Given the description of an element on the screen output the (x, y) to click on. 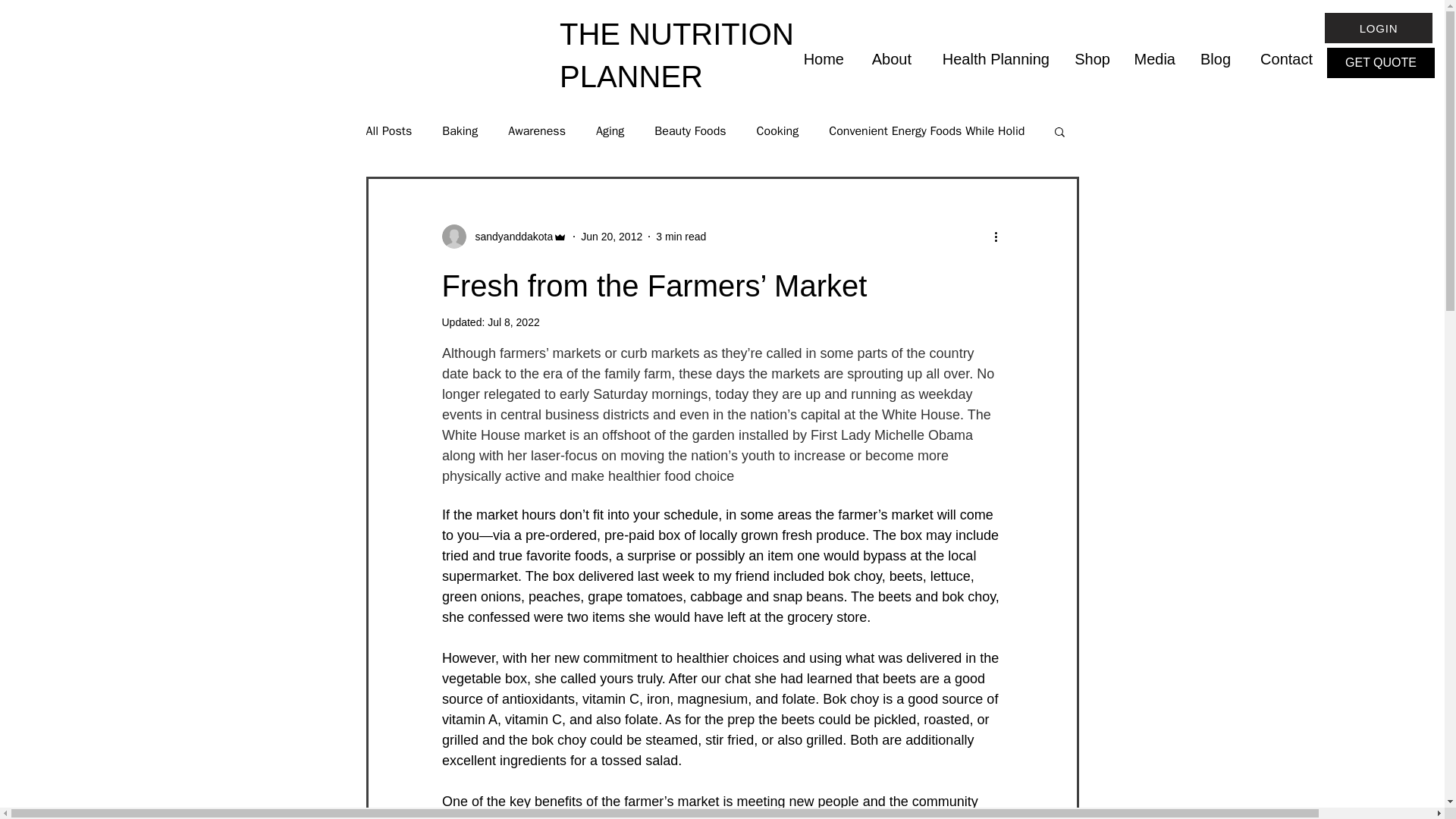
GET QUOTE (1380, 62)
sandyanddakota (509, 236)
Beauty Foods (689, 130)
LOGIN (1378, 28)
Media (1153, 58)
3 min read (681, 236)
Baking (459, 130)
Convenient Energy Foods While Holid (926, 130)
Jul 8, 2022 (513, 322)
Aging (609, 130)
Blog (1213, 58)
Awareness (537, 130)
Cooking (778, 130)
About (889, 58)
Home (822, 58)
